Given the description of an element on the screen output the (x, y) to click on. 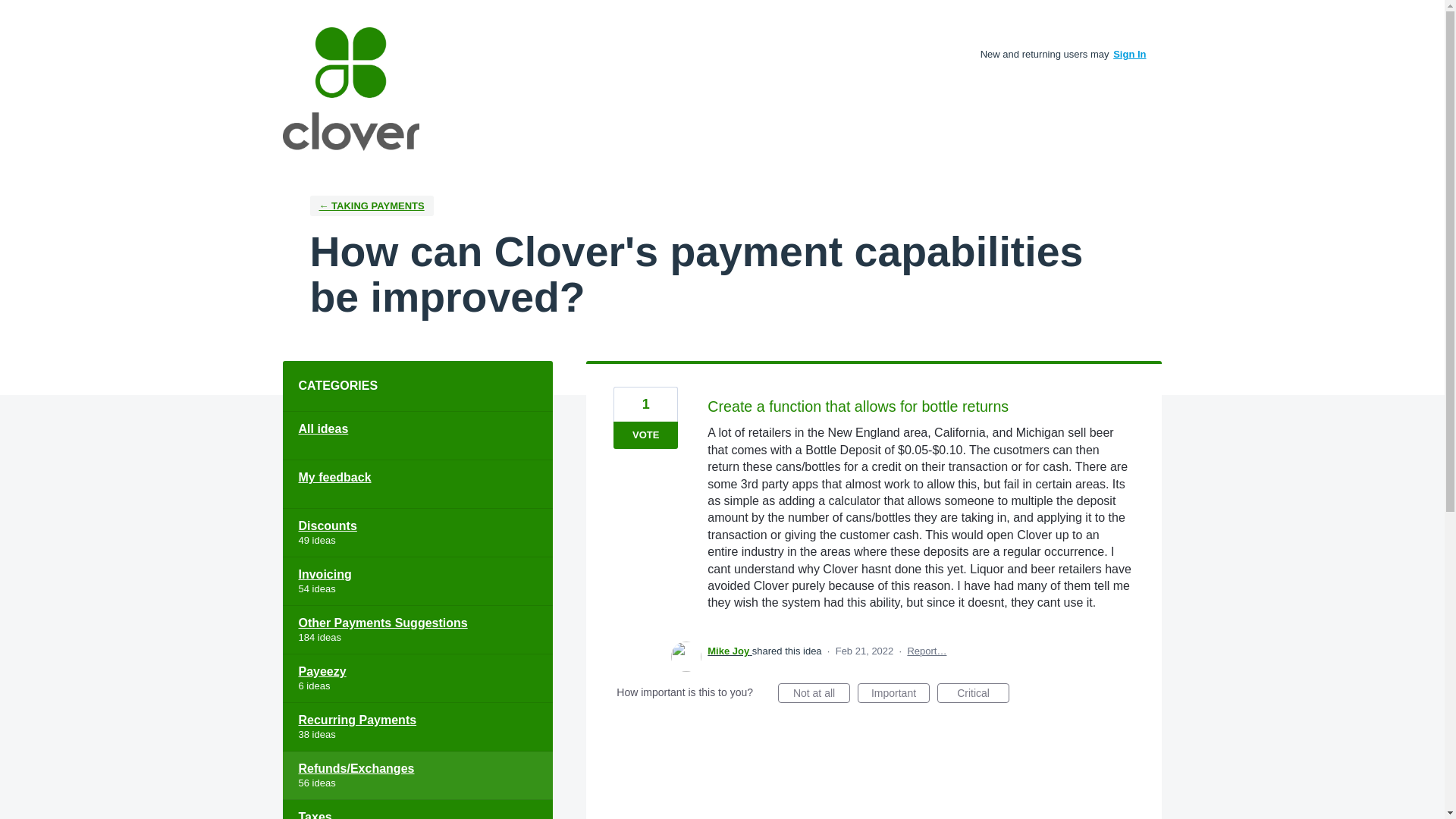
View all ideas in category Taxes (417, 809)
View all ideas in category Recurring Payments (417, 726)
VOTE (645, 434)
Other Payments Suggestions (417, 630)
View all ideas in category Payeezy (417, 678)
Invoicing (417, 581)
Recurring Payments (417, 726)
My feedback (417, 484)
Discounts (417, 532)
All ideas (417, 435)
